Given the description of an element on the screen output the (x, y) to click on. 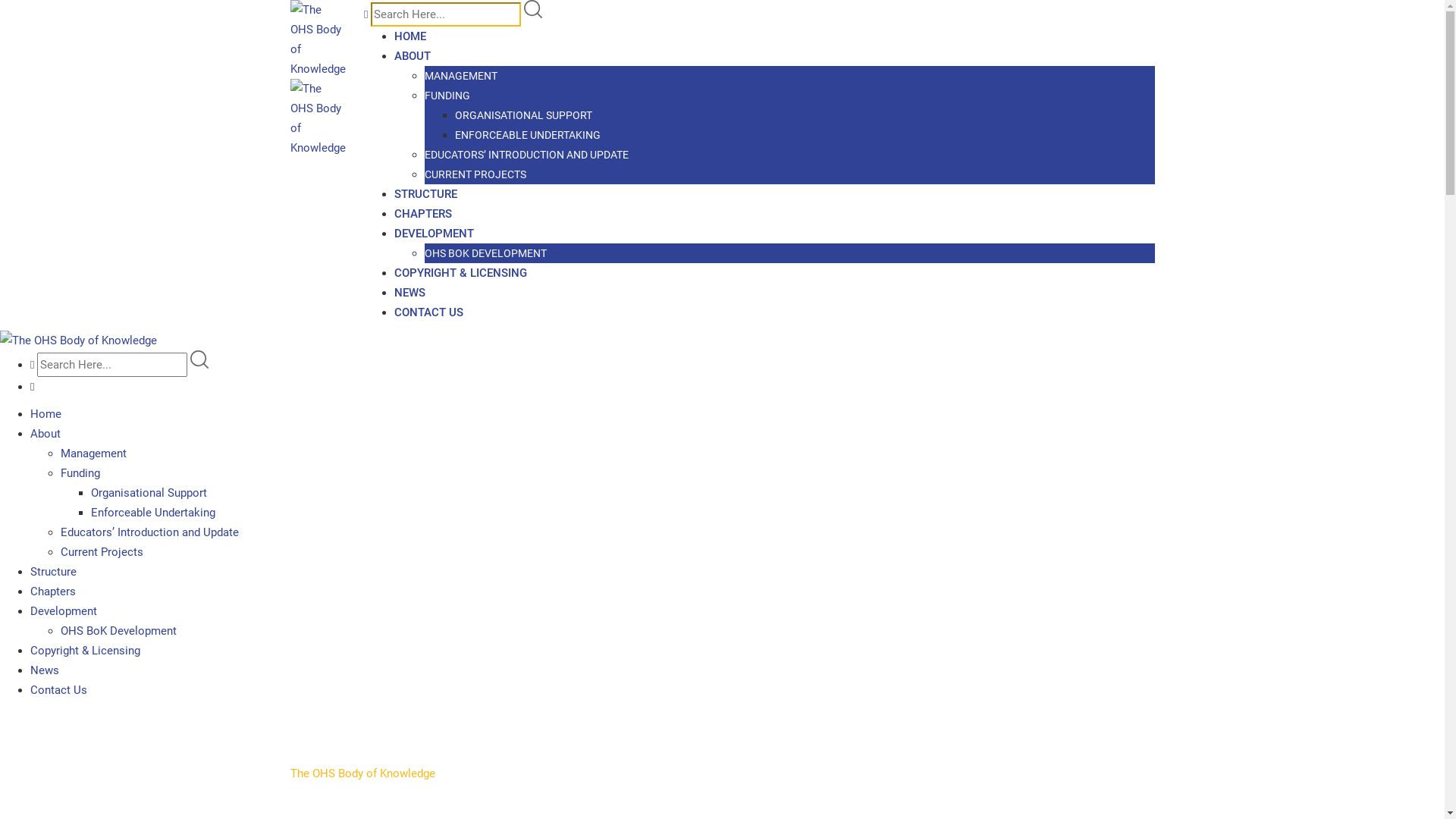
Development Element type: text (63, 611)
OHS BOK DEVELOPMENT Element type: text (485, 253)
FUNDING Element type: text (447, 95)
COPYRIGHT & LICENSING Element type: text (460, 272)
Current Projects Element type: text (101, 551)
ORGANISATIONAL SUPPORT Element type: text (523, 115)
About Element type: text (45, 433)
HOME Element type: text (410, 36)
CHAPTERS Element type: text (422, 213)
STRUCTURE Element type: text (425, 193)
Home Element type: text (45, 413)
NEWS Element type: text (409, 292)
CURRENT PROJECTS Element type: text (475, 174)
The OHS Body of Knowledge Element type: text (361, 773)
Contact Us Element type: text (58, 689)
OHS BoK Development Element type: text (118, 630)
News Element type: text (44, 670)
DEVELOPMENT Element type: text (433, 233)
ABOUT Element type: text (412, 55)
CONTACT US Element type: text (428, 312)
ENFORCEABLE UNDERTAKING Element type: text (527, 134)
Management Element type: text (93, 453)
MANAGEMENT Element type: text (460, 75)
Chapters Element type: text (52, 591)
Enforceable Undertaking Element type: text (153, 512)
Organisational Support Element type: text (149, 492)
Funding Element type: text (80, 473)
Structure Element type: text (53, 571)
Copyright & Licensing Element type: text (85, 650)
